Given the description of an element on the screen output the (x, y) to click on. 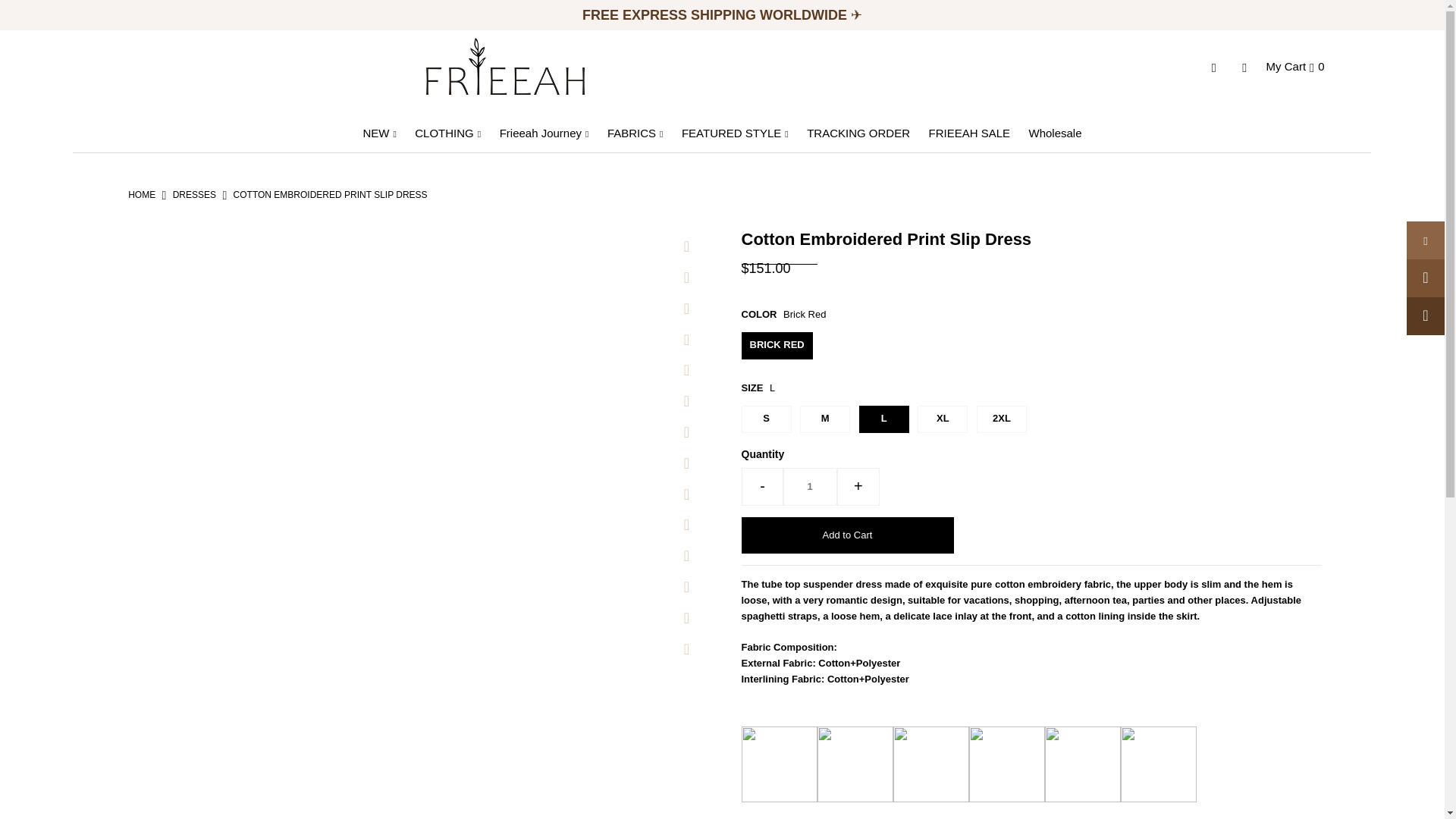
1 (810, 486)
Best Seller (716, 14)
Home (141, 194)
Add to Cart (847, 534)
Dresses (194, 194)
